Given the description of an element on the screen output the (x, y) to click on. 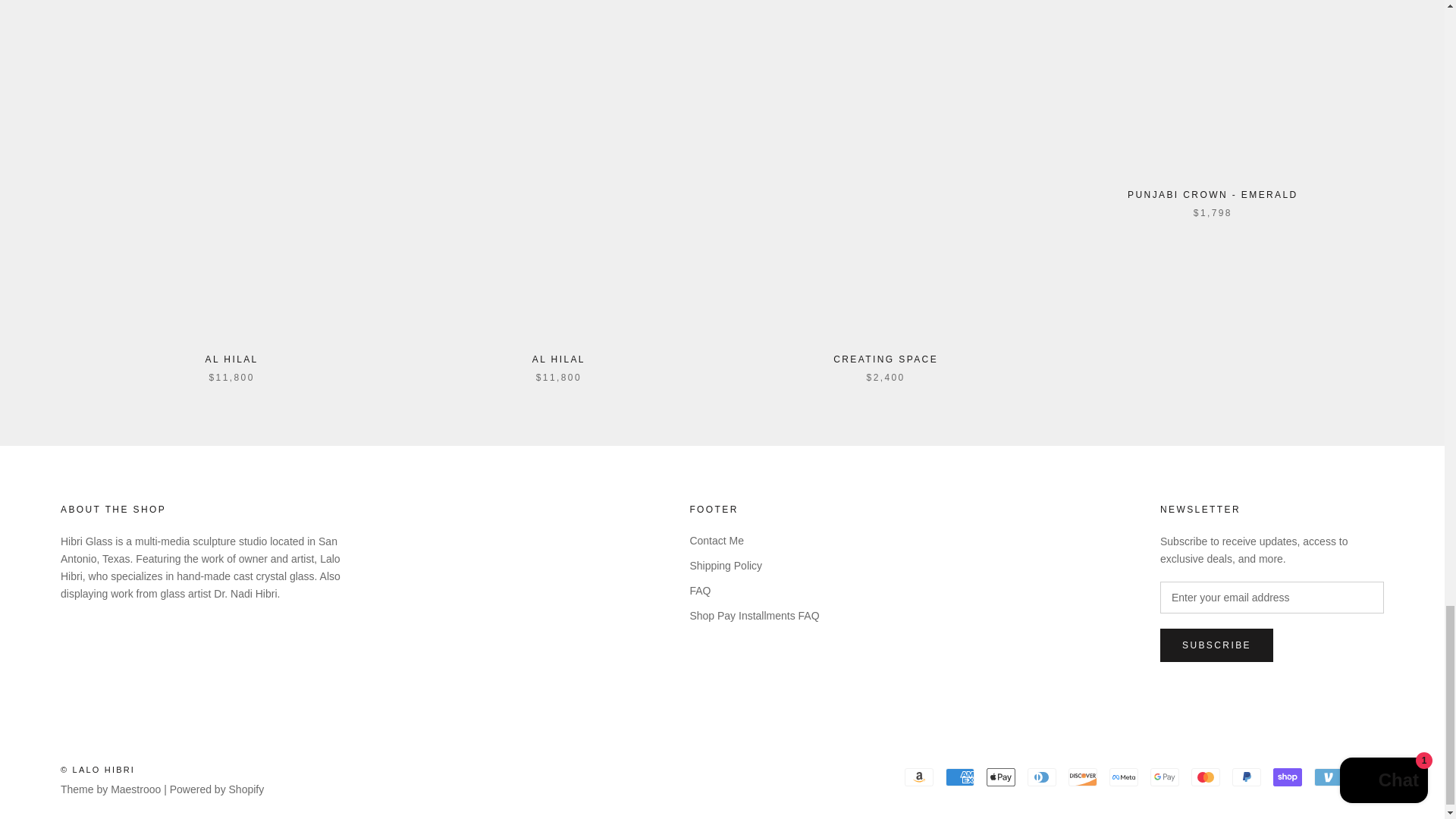
PayPal (1245, 777)
Mastercard (1205, 777)
Amazon (918, 777)
American Express (959, 777)
Apple Pay (1000, 777)
Diners Club (1042, 777)
Venmo (1328, 777)
Visa (1369, 777)
Discover (1082, 777)
Meta Pay (1123, 777)
Google Pay (1164, 777)
Shop Pay (1286, 777)
